Given the description of an element on the screen output the (x, y) to click on. 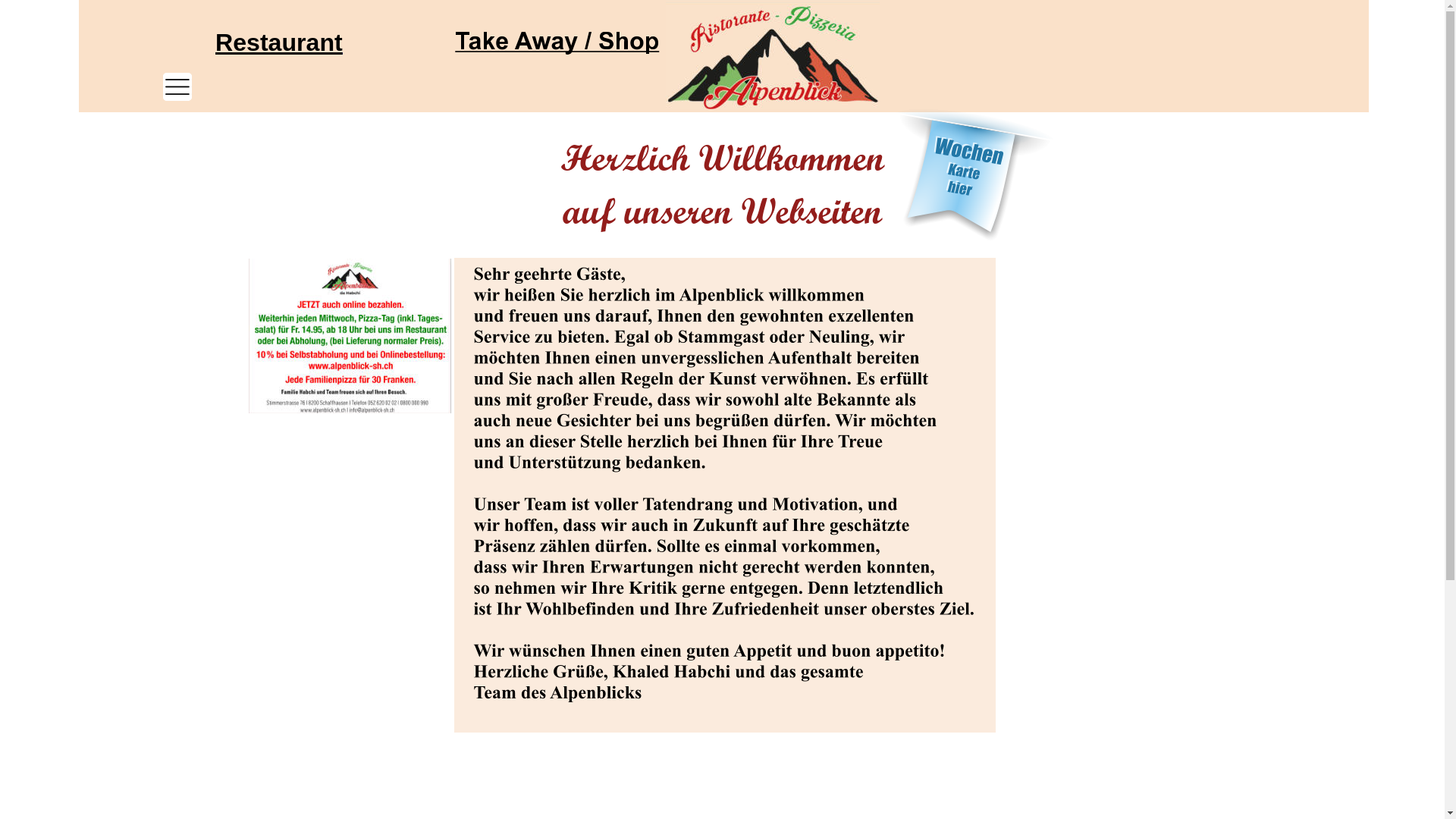
Restaurant Element type: text (278, 42)
